Given the description of an element on the screen output the (x, y) to click on. 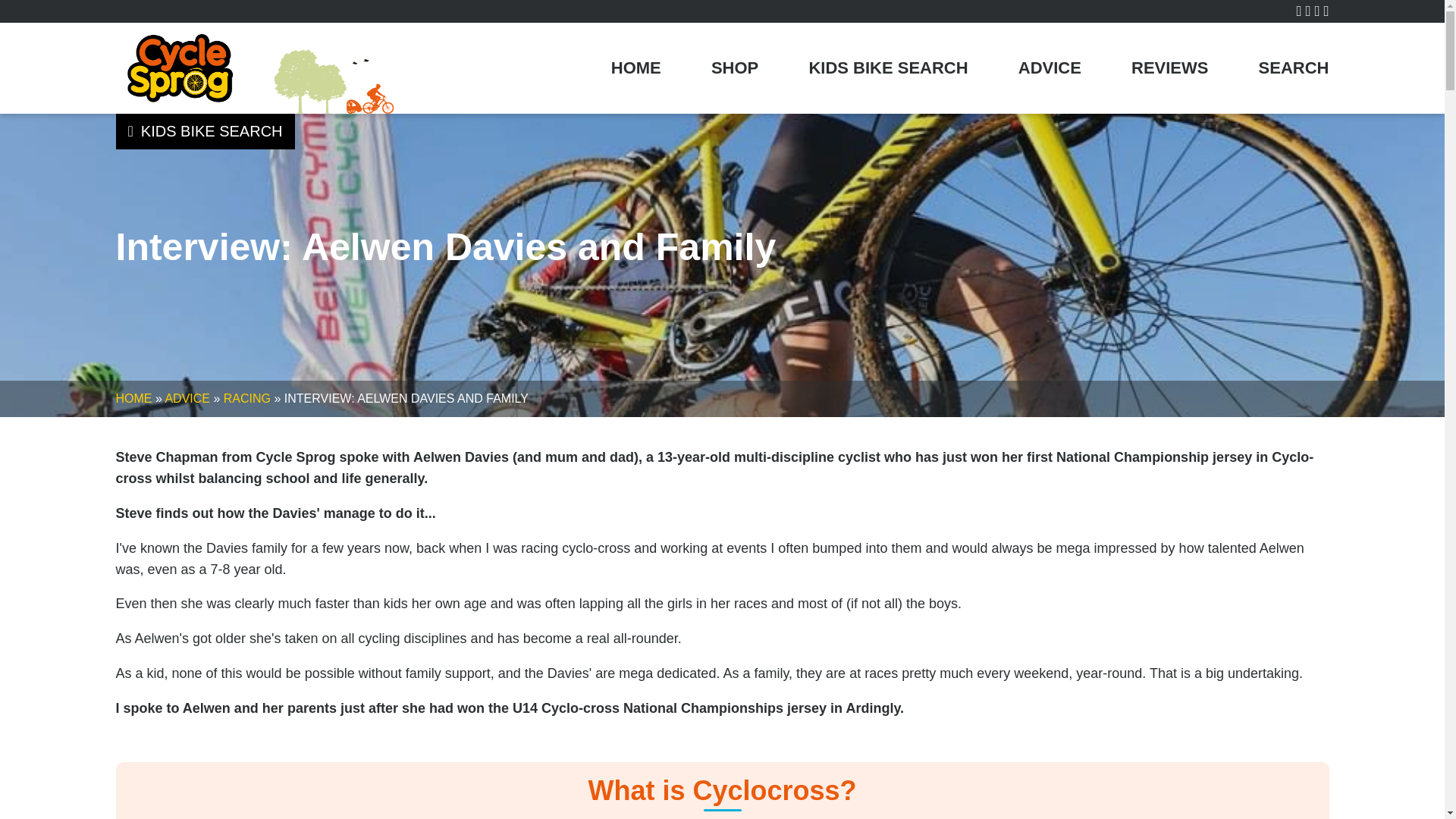
HOME (133, 398)
RACING (247, 398)
SEARCH (1294, 67)
ADVICE (186, 398)
REVIEWS (1169, 67)
KIDS BIKE SEARCH (888, 67)
SHOP (734, 67)
ADVICE (1049, 67)
HOME (636, 67)
